Given the description of an element on the screen output the (x, y) to click on. 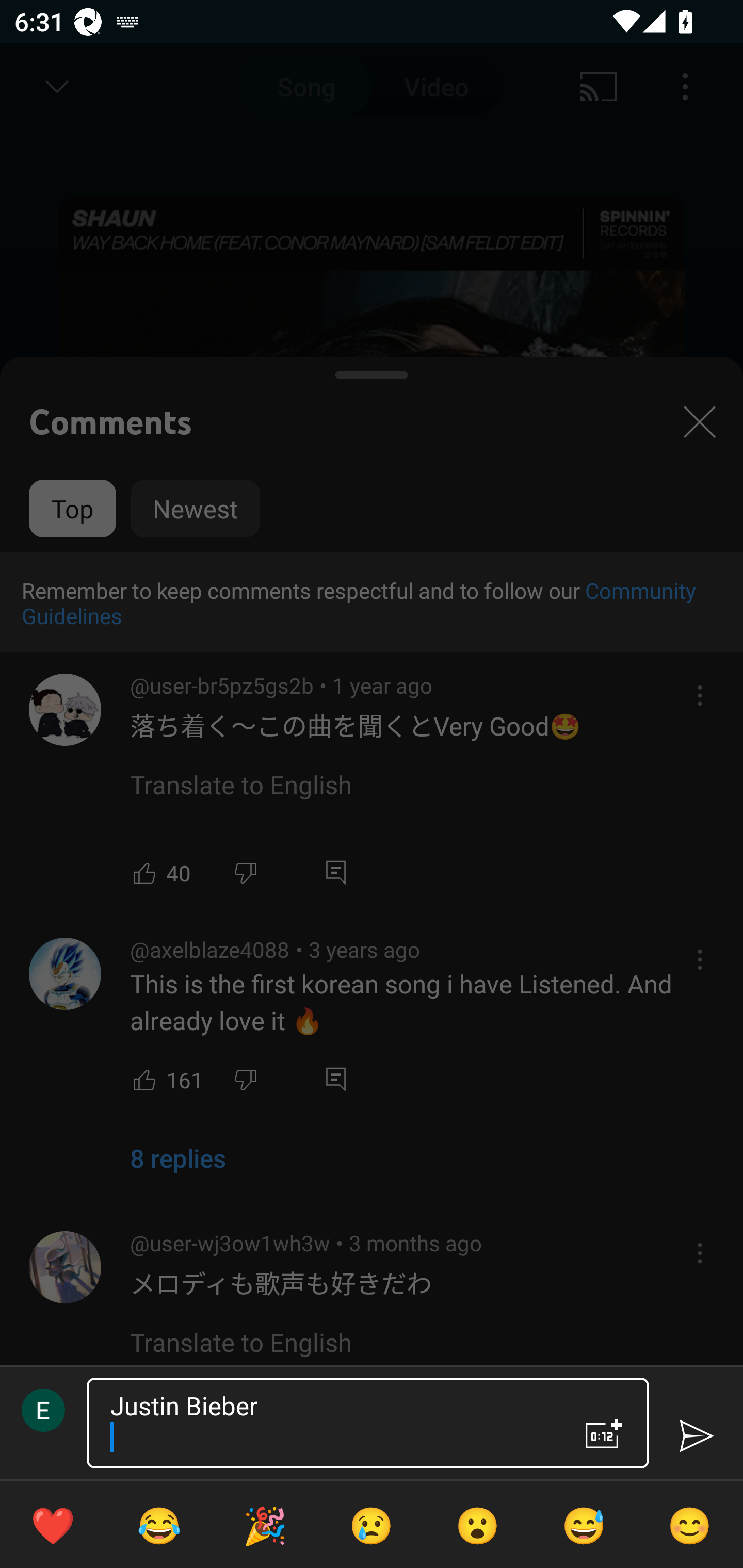
Justin Bieber
 (329, 1422)
Add a timestamp (603, 1433)
Send comment (695, 1436)
❤ (53, 1524)
😂 (158, 1524)
🎉 (264, 1524)
😢 (371, 1524)
😮 (477, 1524)
😅 (583, 1524)
😊 (689, 1524)
